Given the description of an element on the screen output the (x, y) to click on. 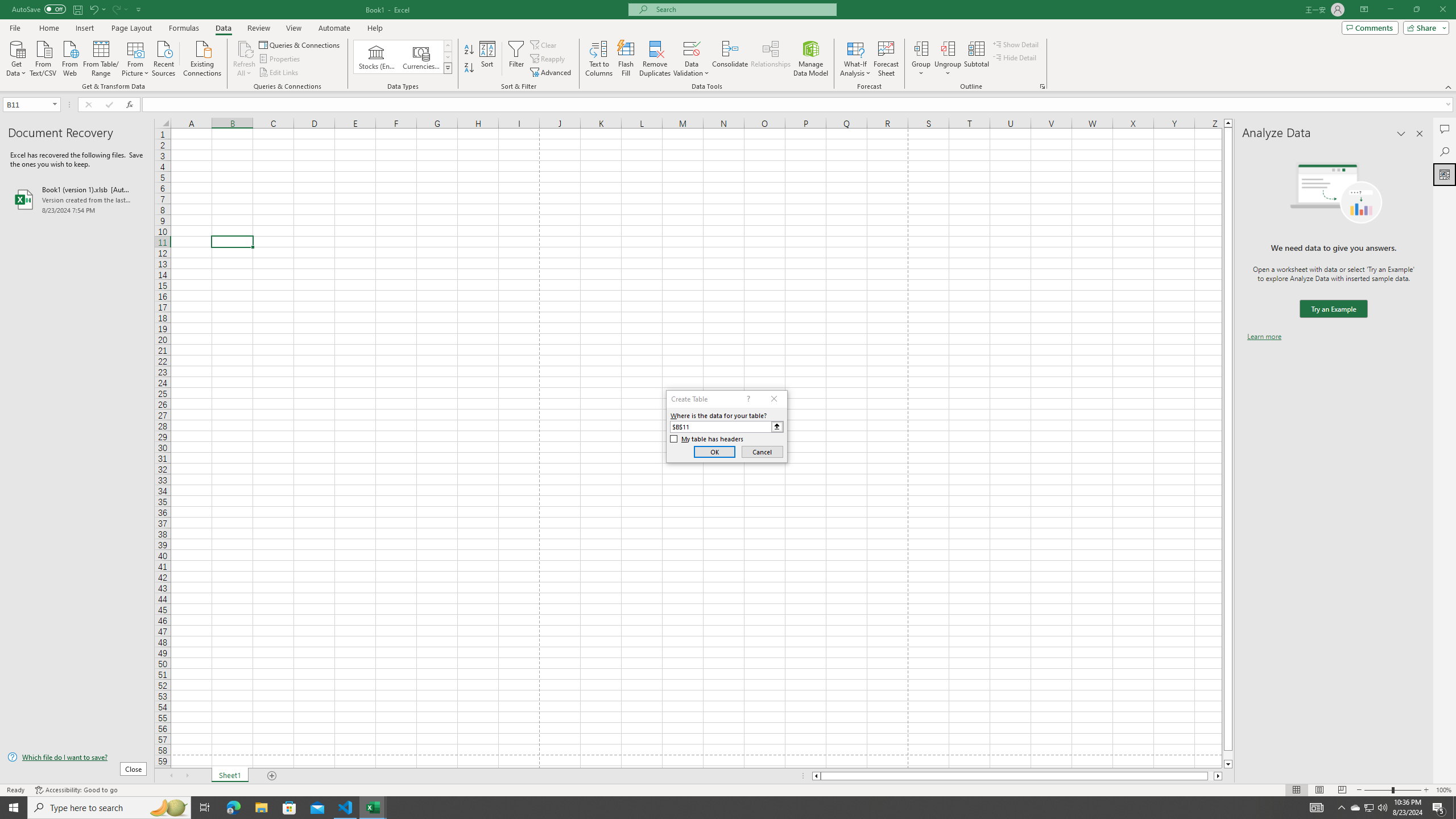
Class: NetUIImage (447, 68)
We need data to give you answers. Try an Example (1333, 308)
Properties (280, 58)
From Web (69, 57)
Task Pane Options (1400, 133)
